Given the description of an element on the screen output the (x, y) to click on. 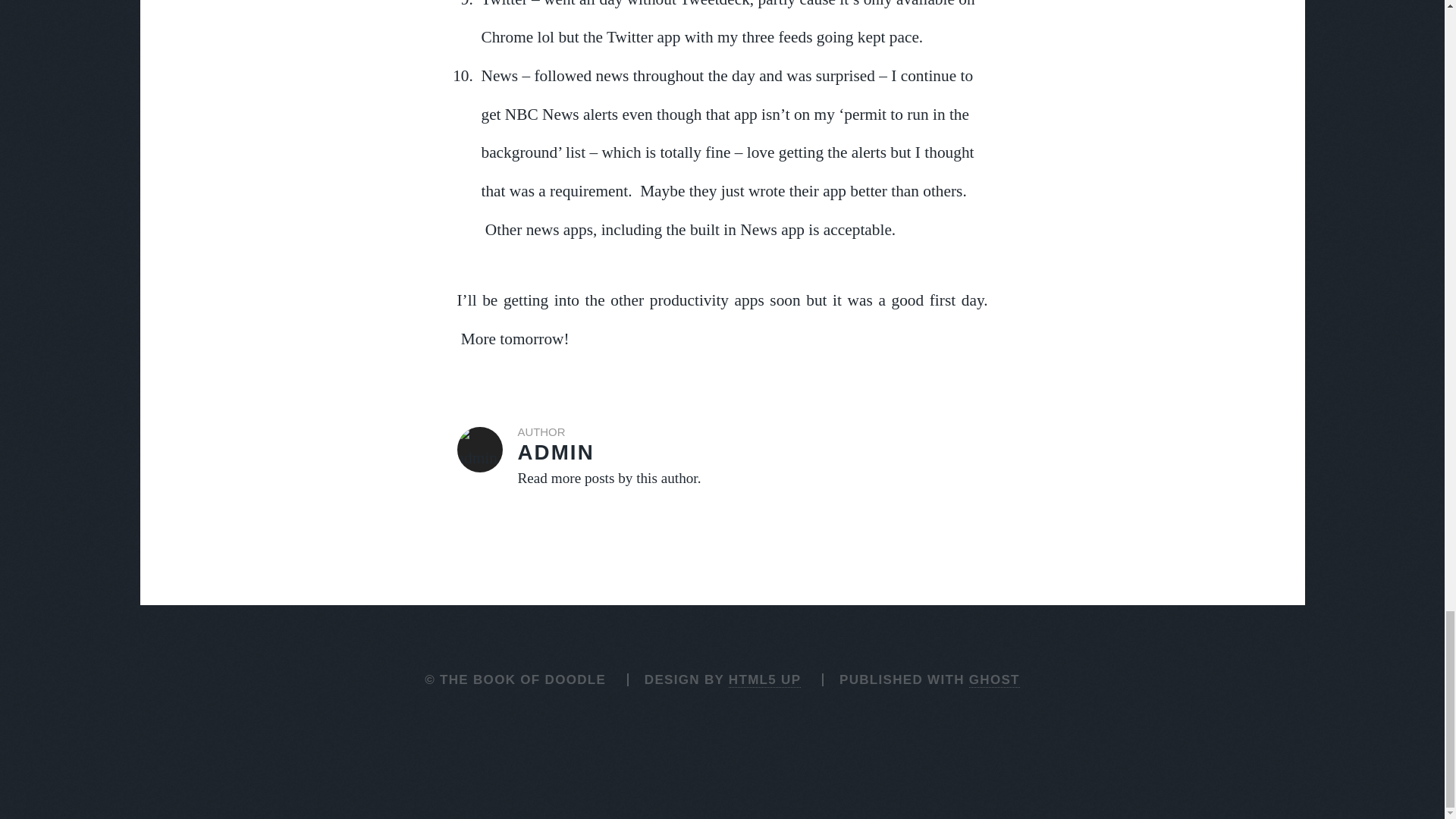
GHOST (994, 679)
HTML5 UP (722, 458)
